Given the description of an element on the screen output the (x, y) to click on. 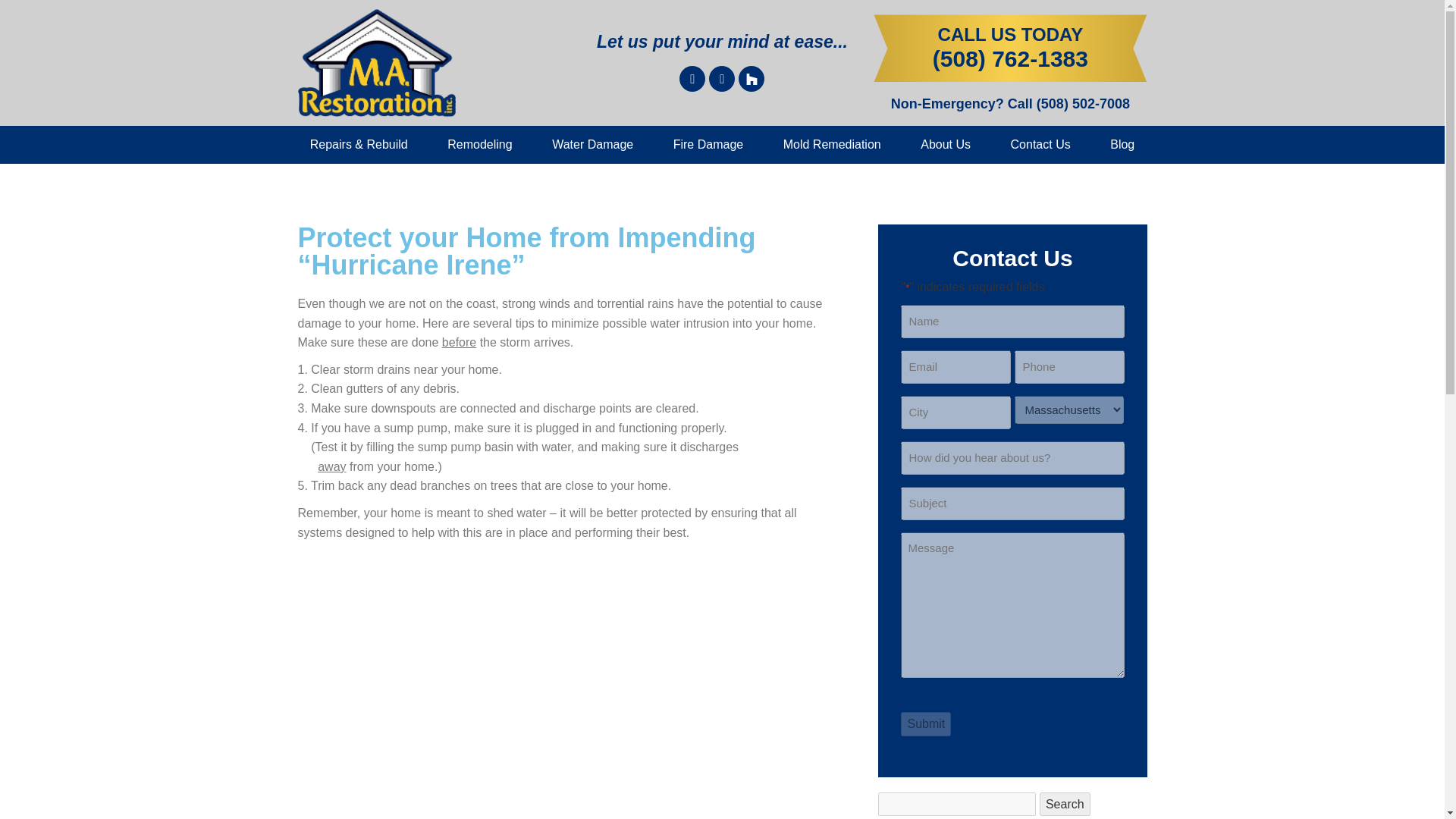
Mold Remediation (830, 144)
Submit (925, 723)
Blog (1122, 144)
Search (1064, 804)
Contact Us (1040, 144)
Fire Damage (707, 144)
Water Damage (592, 144)
About Us (945, 144)
Remodeling (480, 144)
